Given the description of an element on the screen output the (x, y) to click on. 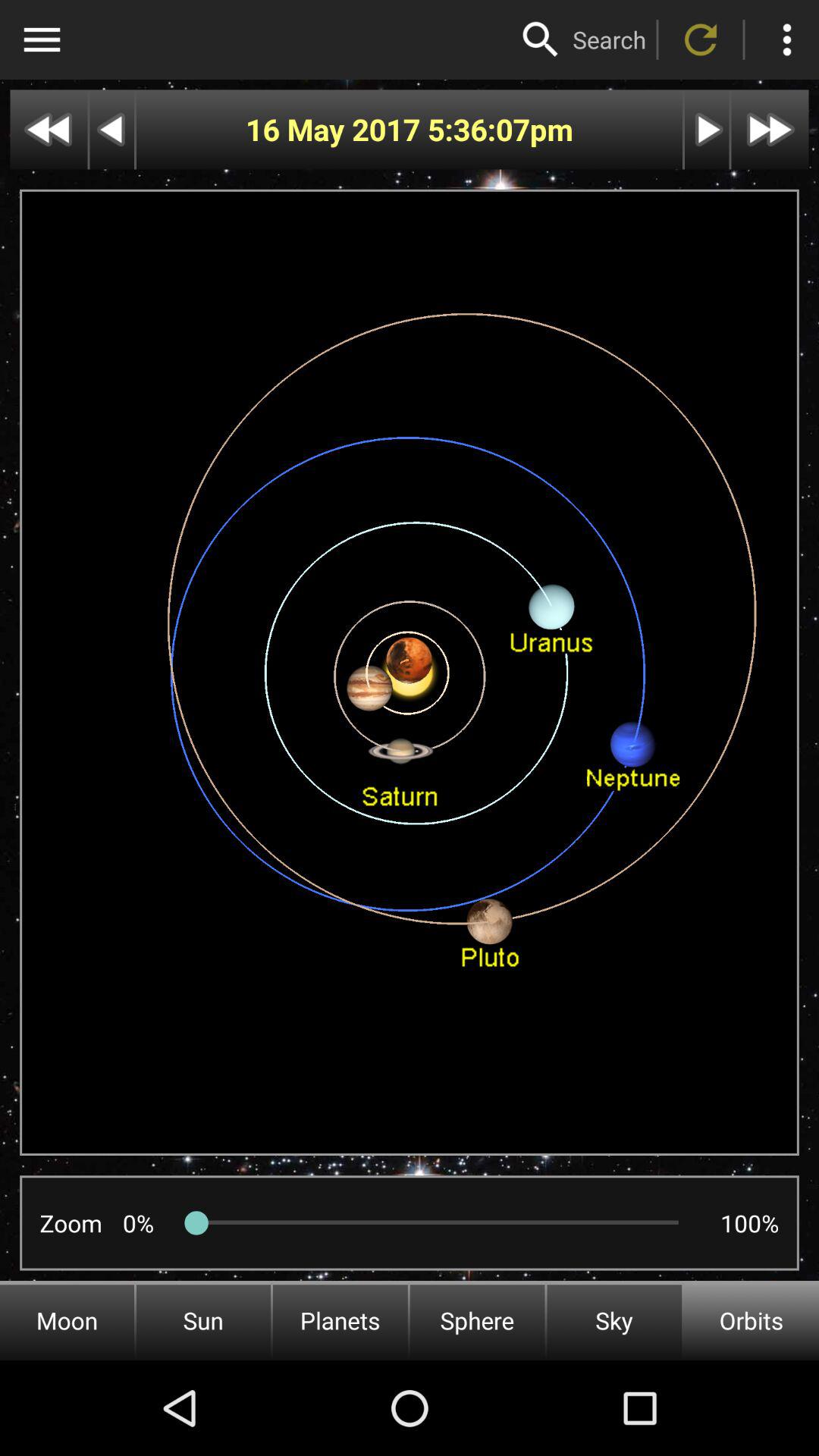
play the video (706, 129)
